Given the description of an element on the screen output the (x, y) to click on. 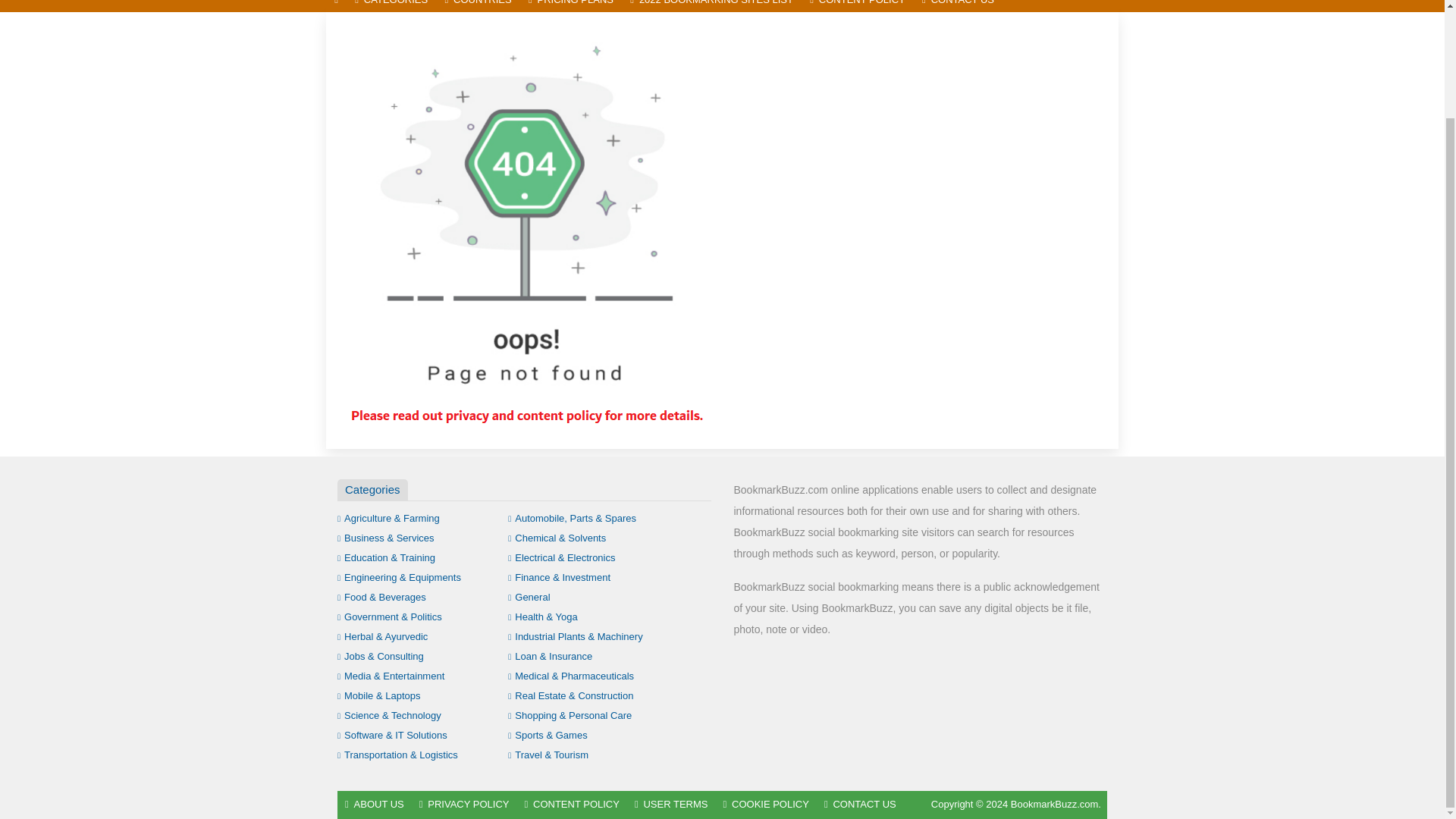
General (529, 596)
2022 BOOKMARKING SITES LIST (711, 6)
PRICING PLANS (570, 6)
CATEGORIES (390, 6)
HOME (336, 6)
CONTENT POLICY (858, 6)
CONTACT US (958, 6)
COUNTRIES (477, 6)
